Given the description of an element on the screen output the (x, y) to click on. 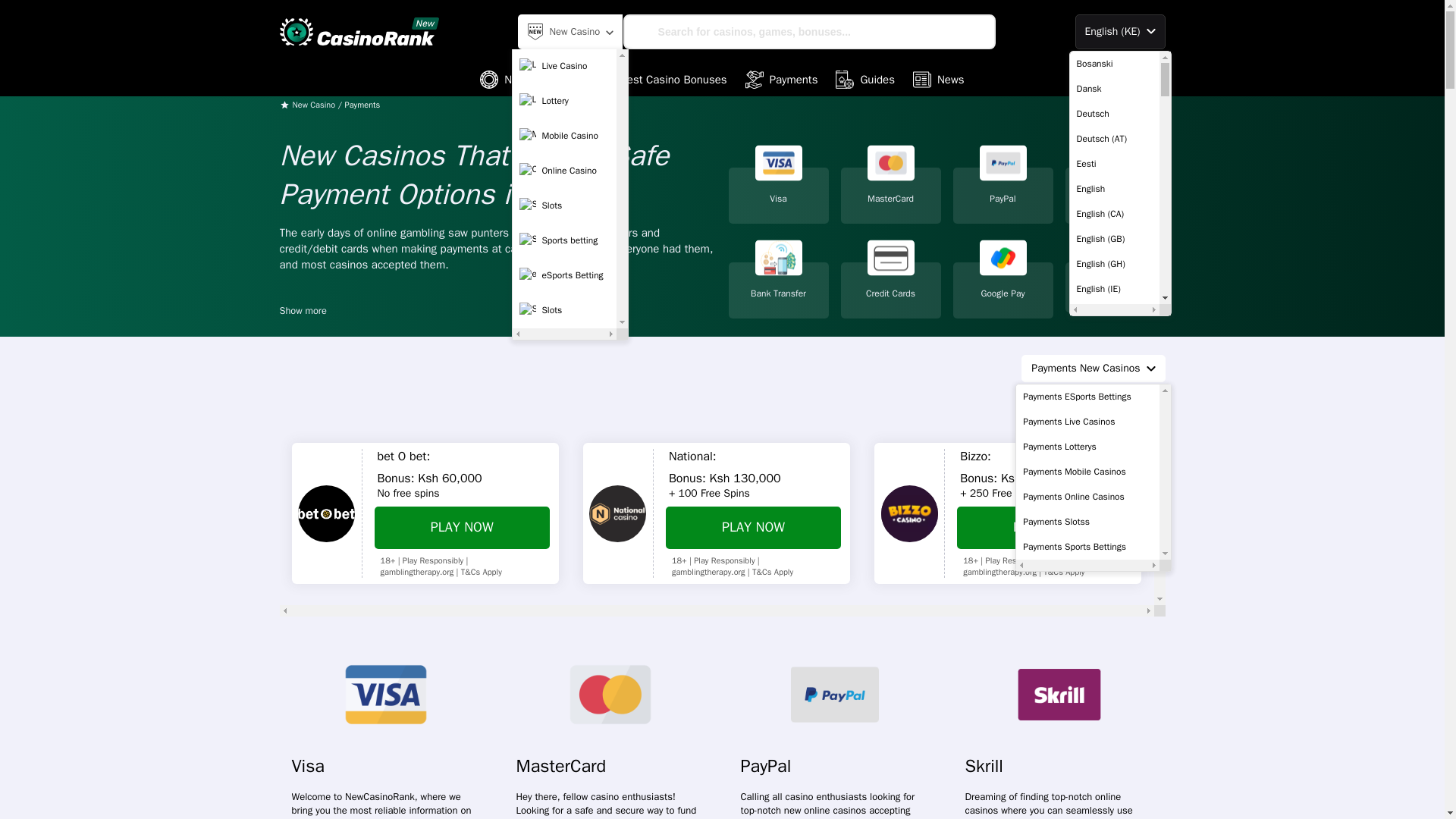
Dansk (1113, 88)
Deutsch (1113, 113)
Online Casino (563, 170)
Slots (563, 309)
Eesti (1113, 163)
Bosanski (1113, 63)
Lottery (563, 100)
Slots (563, 205)
Live Casino (563, 65)
Mobile Casino (563, 135)
